Given the description of an element on the screen output the (x, y) to click on. 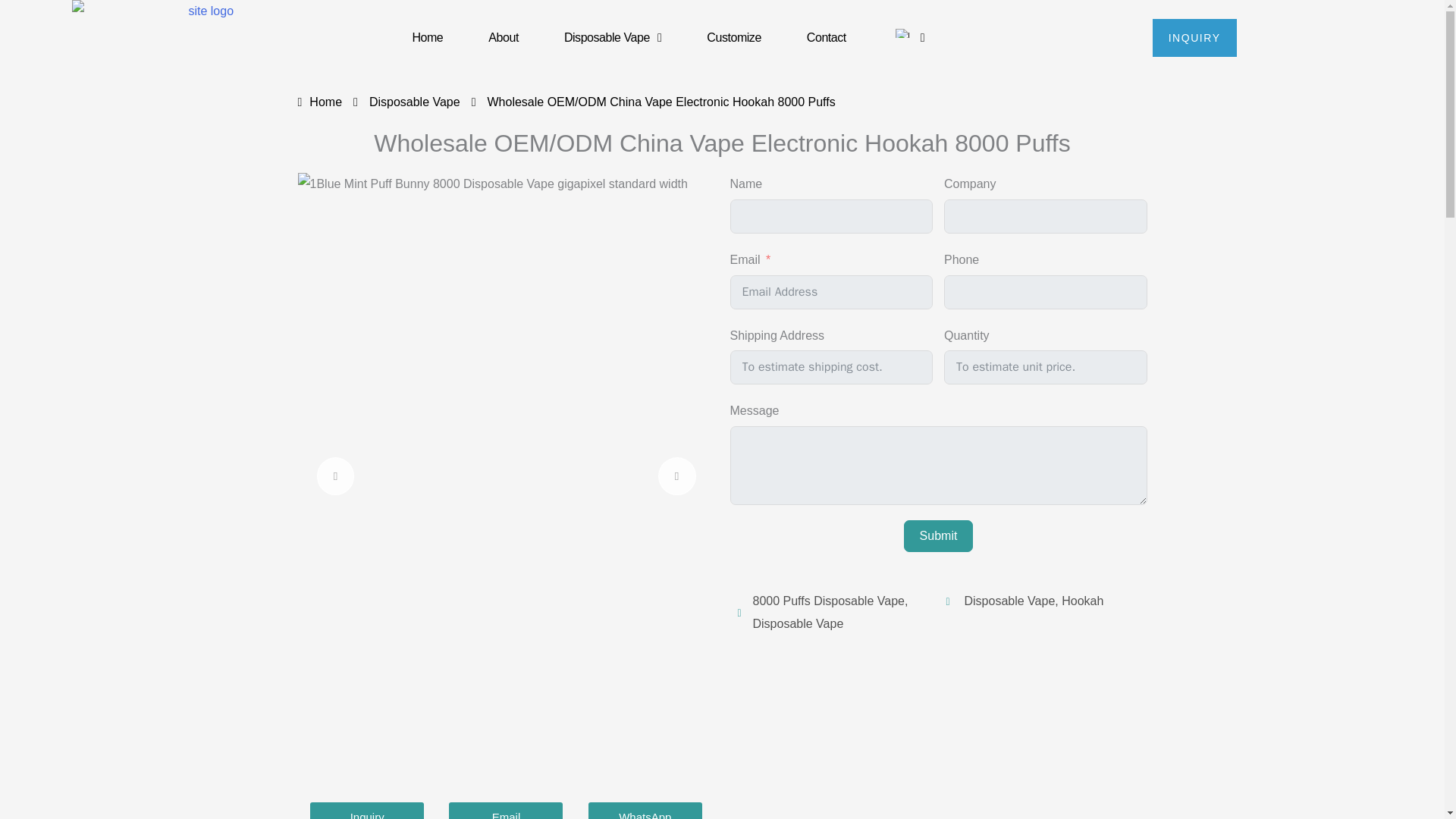
Home (426, 37)
About (502, 37)
Disposable Vape (612, 37)
Nederlands (901, 32)
Contact (826, 37)
INQUIRY (1194, 37)
Home (319, 103)
Customize (733, 37)
